Given the description of an element on the screen output the (x, y) to click on. 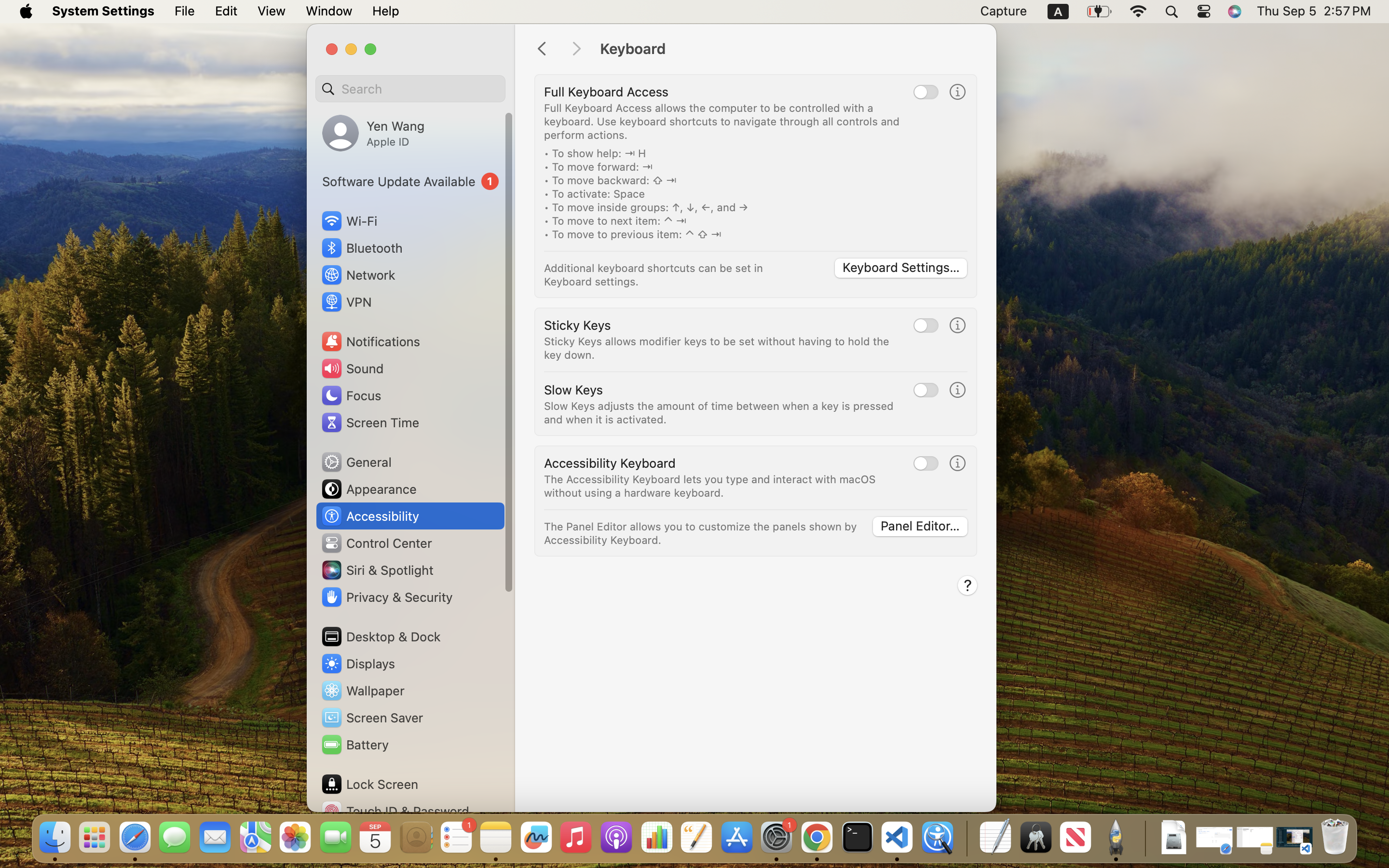
Control Center Element type: AXStaticText (376, 542)
Screen Time Element type: AXStaticText (369, 422)
Privacy & Security Element type: AXStaticText (386, 596)
• To show help: ⇥ H
• To move forward: ⇥
• To move backward: ⇧ ⇥
• To activate: Space
• To move inside groups: ↑, ↓, ←, and →
• To move to next item: ⌃ ⇥
• To move to previous item: ⌃ ⇧ ⇥ Element type: AXStaticText (646, 193)
